Given the description of an element on the screen output the (x, y) to click on. 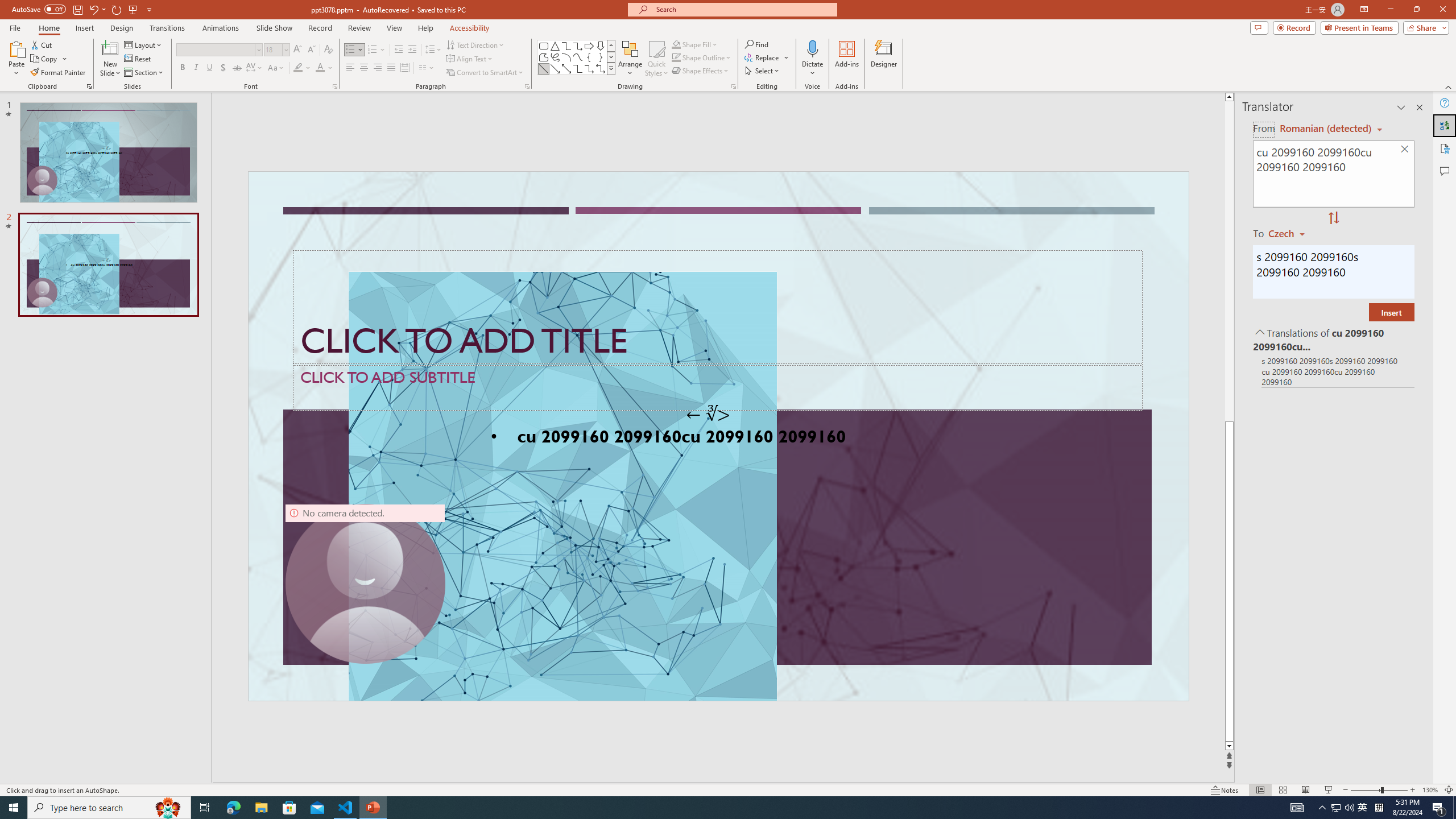
Shape Outline Green, Accent 1 (675, 56)
Shape Fill Dark Green, Accent 2 (675, 44)
Translations of cu 2099160 2099160cu 2099160 2099160 (1333, 338)
